Given the description of an element on the screen output the (x, y) to click on. 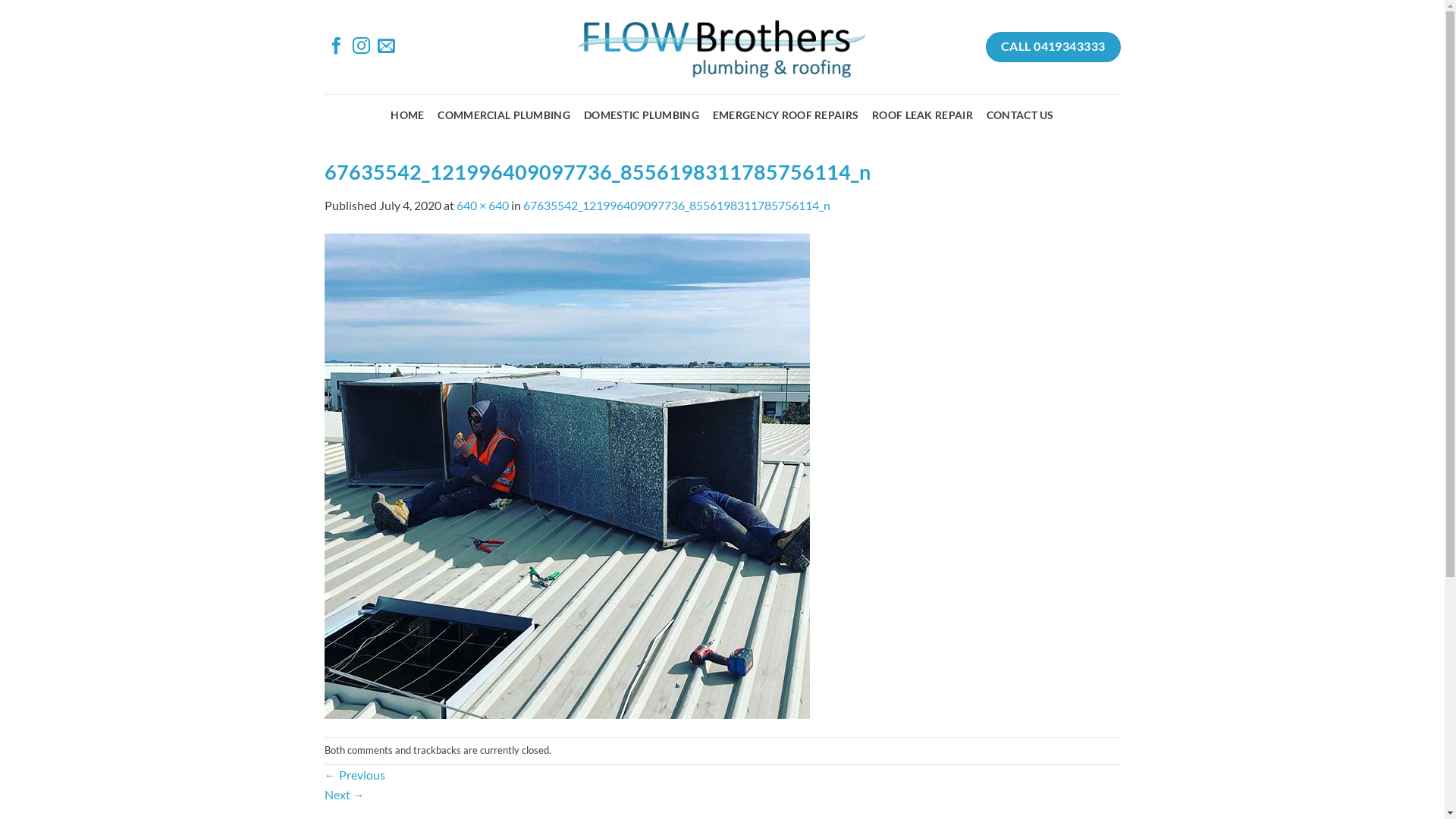
DOMESTIC PLUMBING Element type: text (641, 114)
EMERGENCY ROOF REPAIRS Element type: text (785, 114)
ROOF LEAK REPAIR Element type: text (922, 114)
COMMERCIAL PLUMBING Element type: text (503, 114)
Follow on Facebook Element type: hover (336, 48)
Flow Brothers Plumbing - steve@flowbrothers.com.au Element type: hover (721, 47)
Follow on Instagram Element type: hover (361, 48)
67635542_121996409097736_8556198311785756114_n Element type: hover (566, 474)
CONTACT US Element type: text (1020, 114)
CALL 0419343333 Element type: text (1052, 46)
67635542_121996409097736_8556198311785756114_n Element type: text (676, 204)
Send us an email Element type: hover (386, 48)
HOME Element type: text (406, 114)
